Given the description of an element on the screen output the (x, y) to click on. 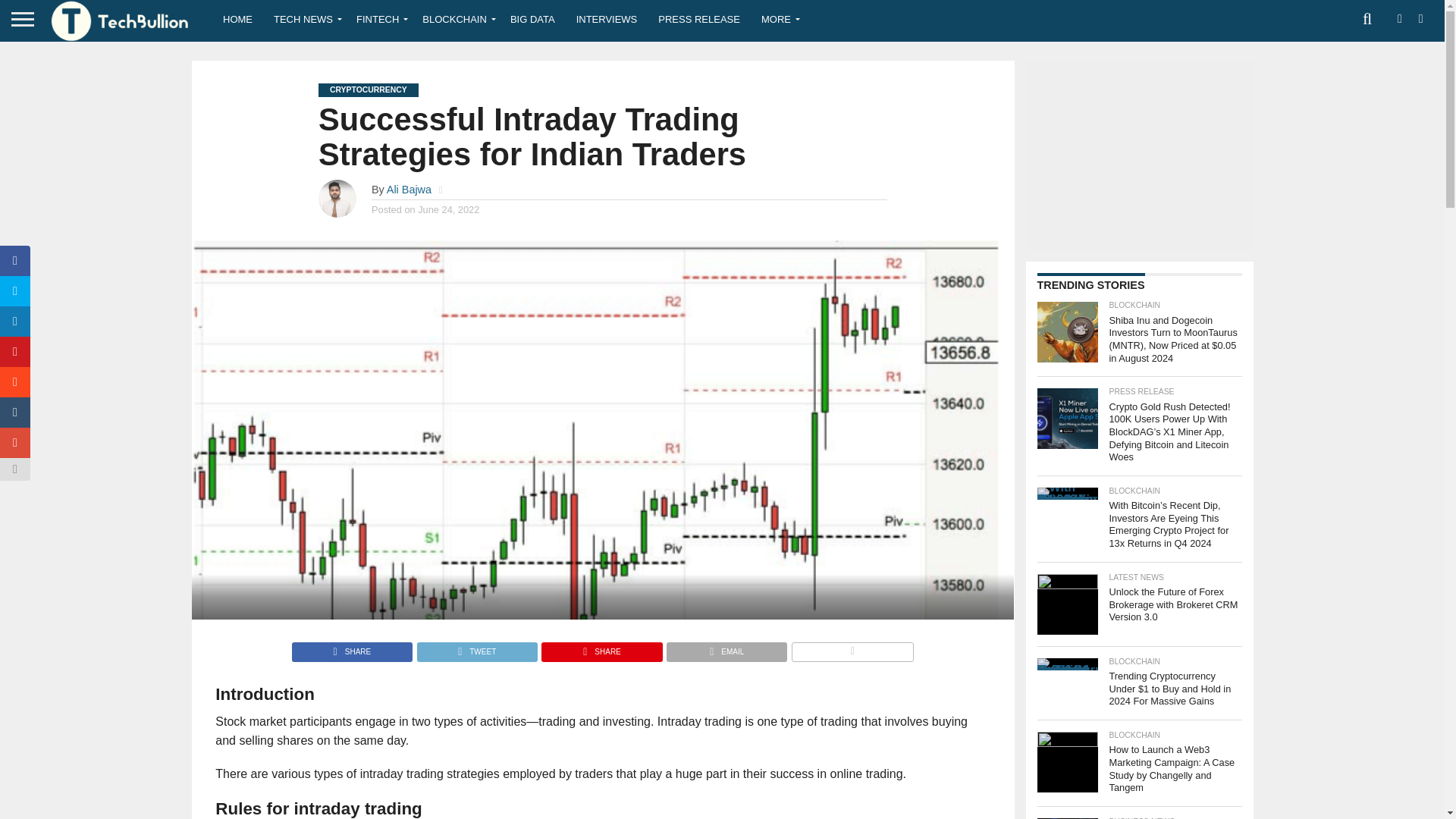
Pin This Post (601, 647)
Share on Facebook (352, 647)
Posts by Ali Bajwa (408, 189)
Tweet This Post (476, 647)
